Given the description of an element on the screen output the (x, y) to click on. 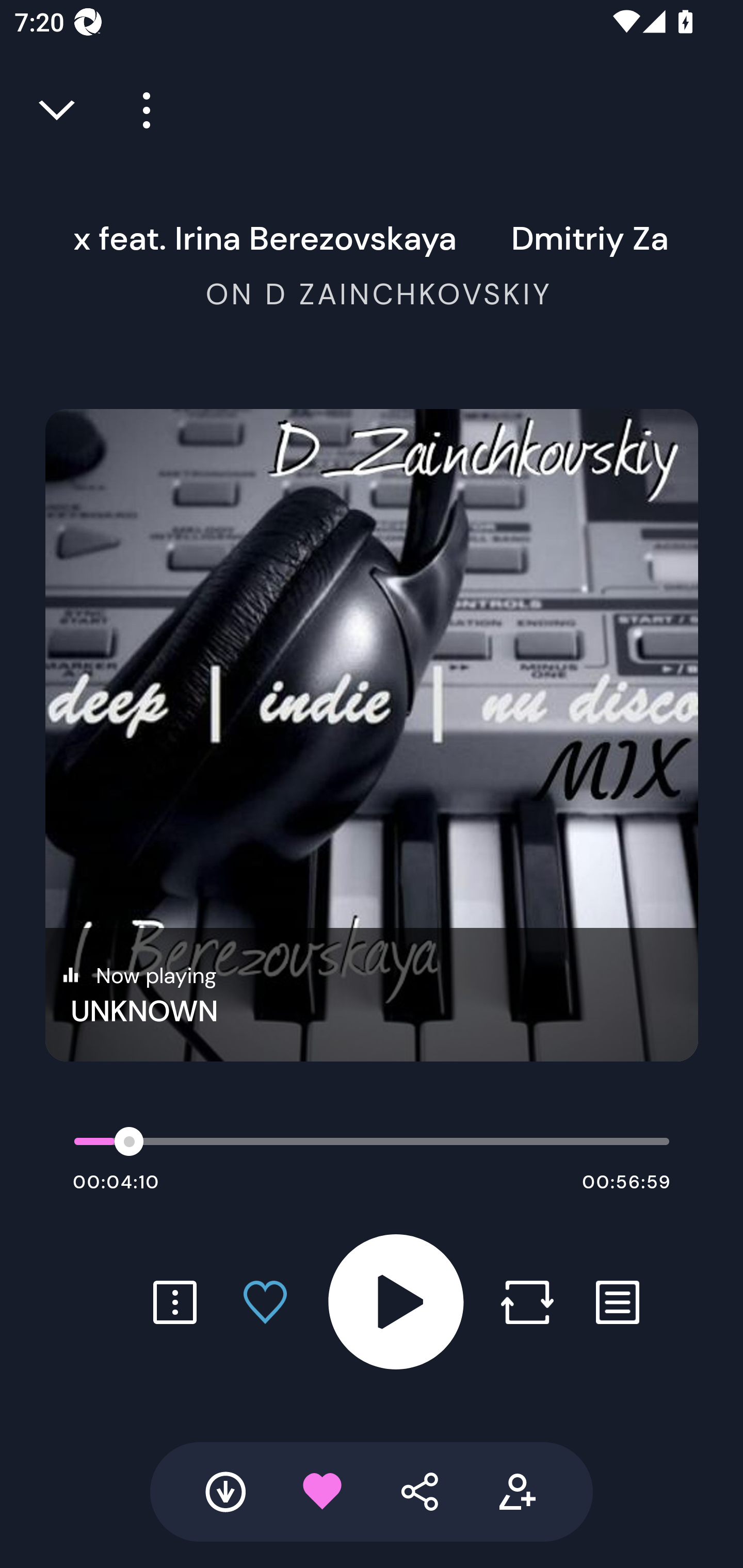
Close full player (58, 110)
Player more options button (139, 110)
Repost button (527, 1301)
